Given the description of an element on the screen output the (x, y) to click on. 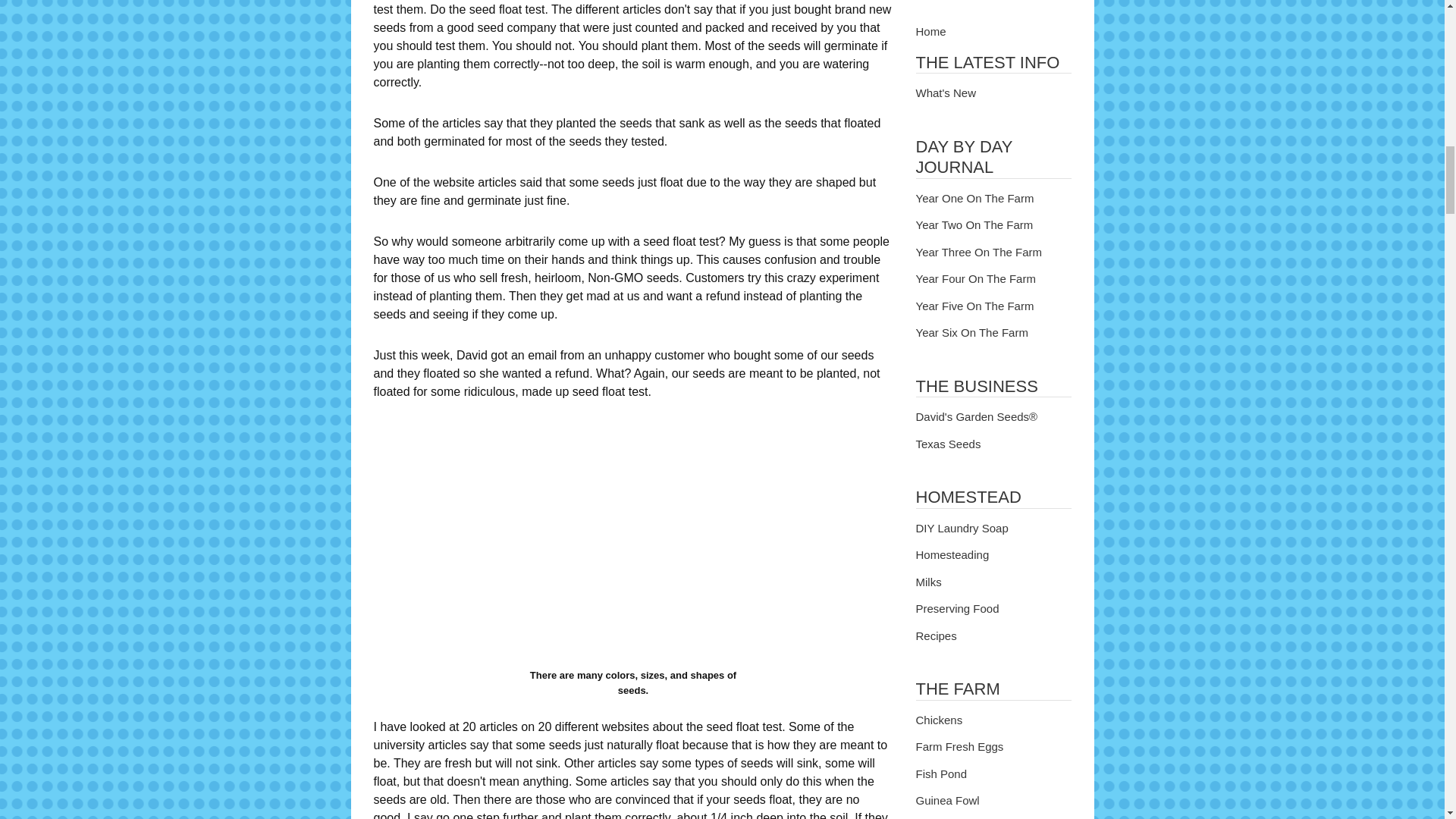
Year Three On The Farm (993, 251)
Year One On The Farm (993, 198)
Year Six On The Farm (993, 333)
Year Five On The Farm (993, 306)
What's New (993, 93)
Preserving Food (993, 609)
Guinea Fowl (993, 801)
Year Two On The Farm (993, 225)
There are many colors, sizes, and shapes of seeds. (632, 541)
Homesteading (993, 555)
Rabbits (993, 817)
Farm Fresh Eggs (993, 747)
Home (993, 32)
Year Four On The Farm (993, 278)
YouTube video player (1127, 7)
